Given the description of an element on the screen output the (x, y) to click on. 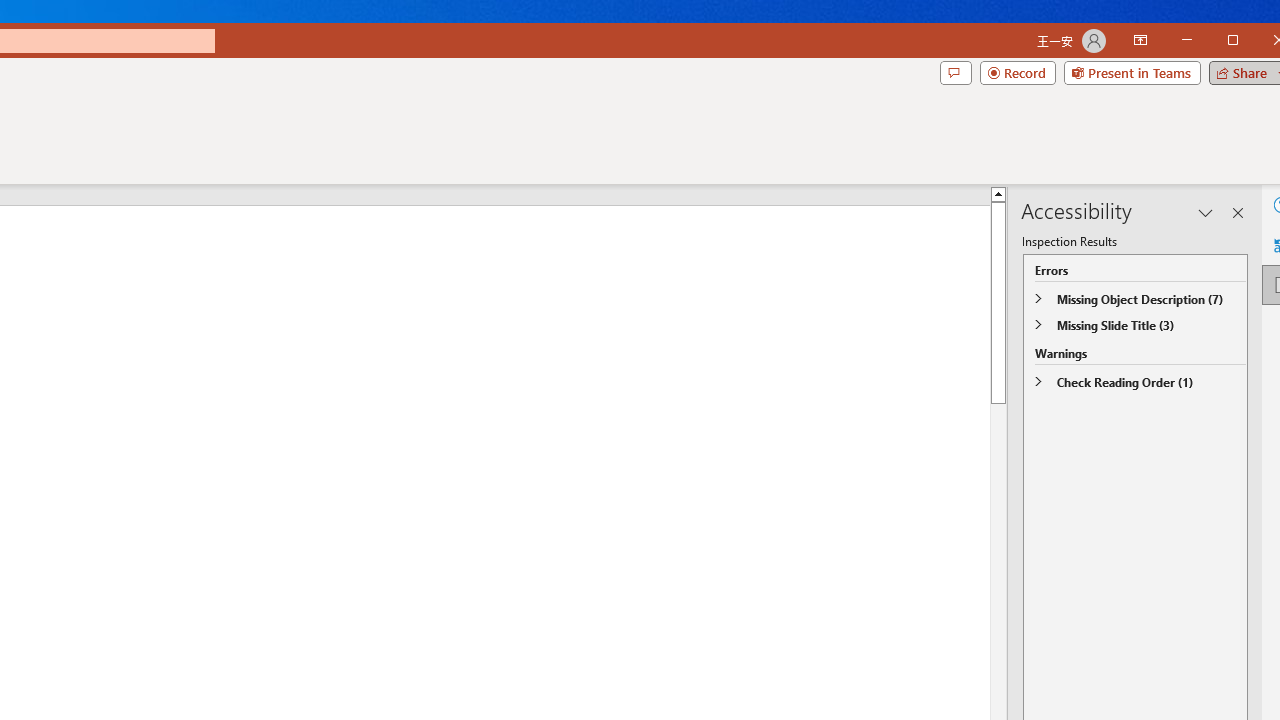
Maximize (1261, 42)
